Given the description of an element on the screen output the (x, y) to click on. 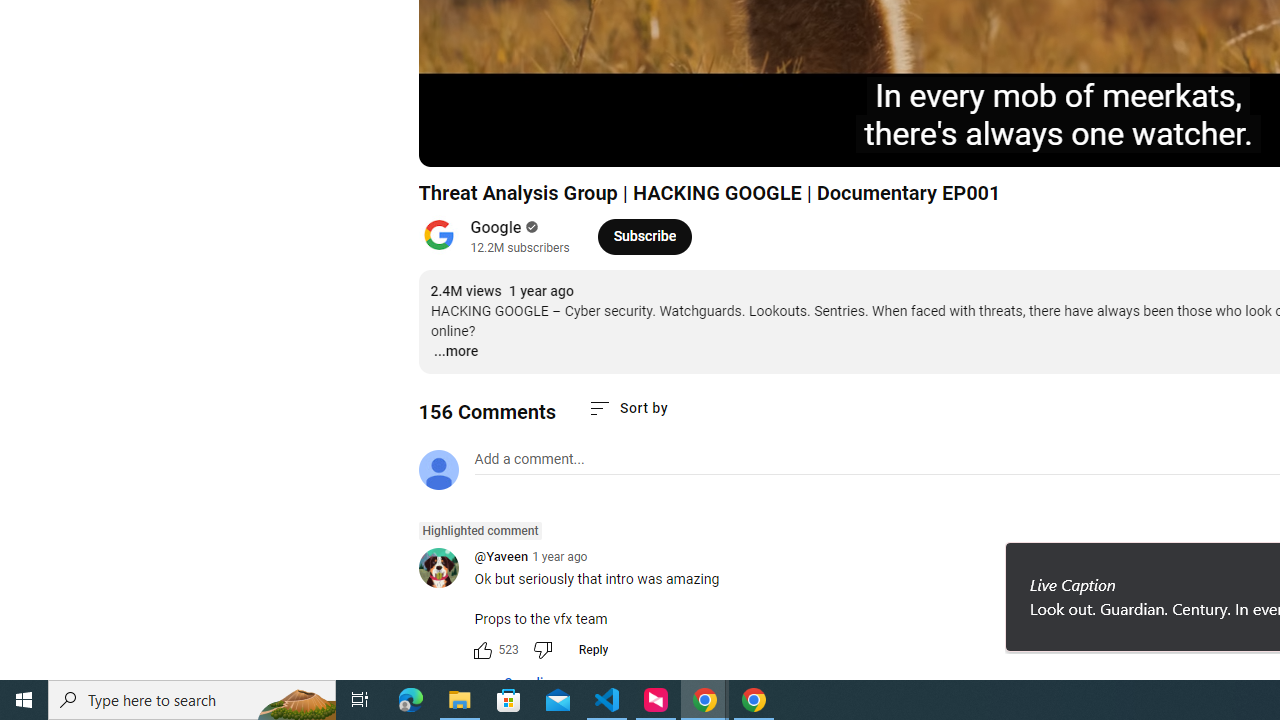
Reply (592, 650)
Next (SHIFT+n) (500, 142)
@Yaveen (500, 557)
Dislike this comment (542, 650)
